Given the description of an element on the screen output the (x, y) to click on. 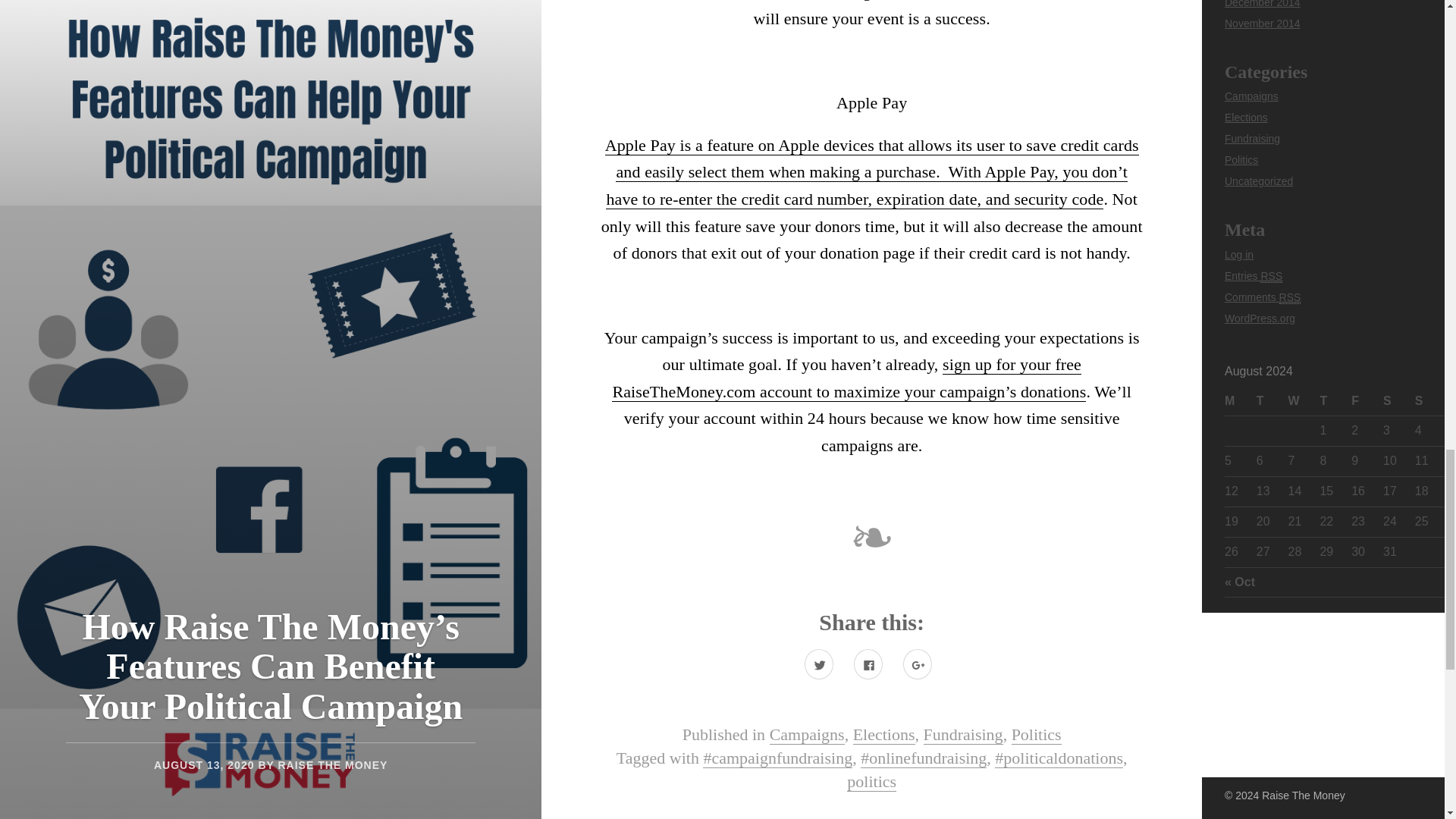
Click to share on Twitter (818, 664)
Monday (1240, 401)
Wednesday (1304, 401)
Friday (1367, 401)
Saturday (1399, 401)
Click to share on Facebook (867, 664)
Tuesday (1272, 401)
Thursday (1335, 401)
Really Simple Syndication (1271, 276)
